Given the description of an element on the screen output the (x, y) to click on. 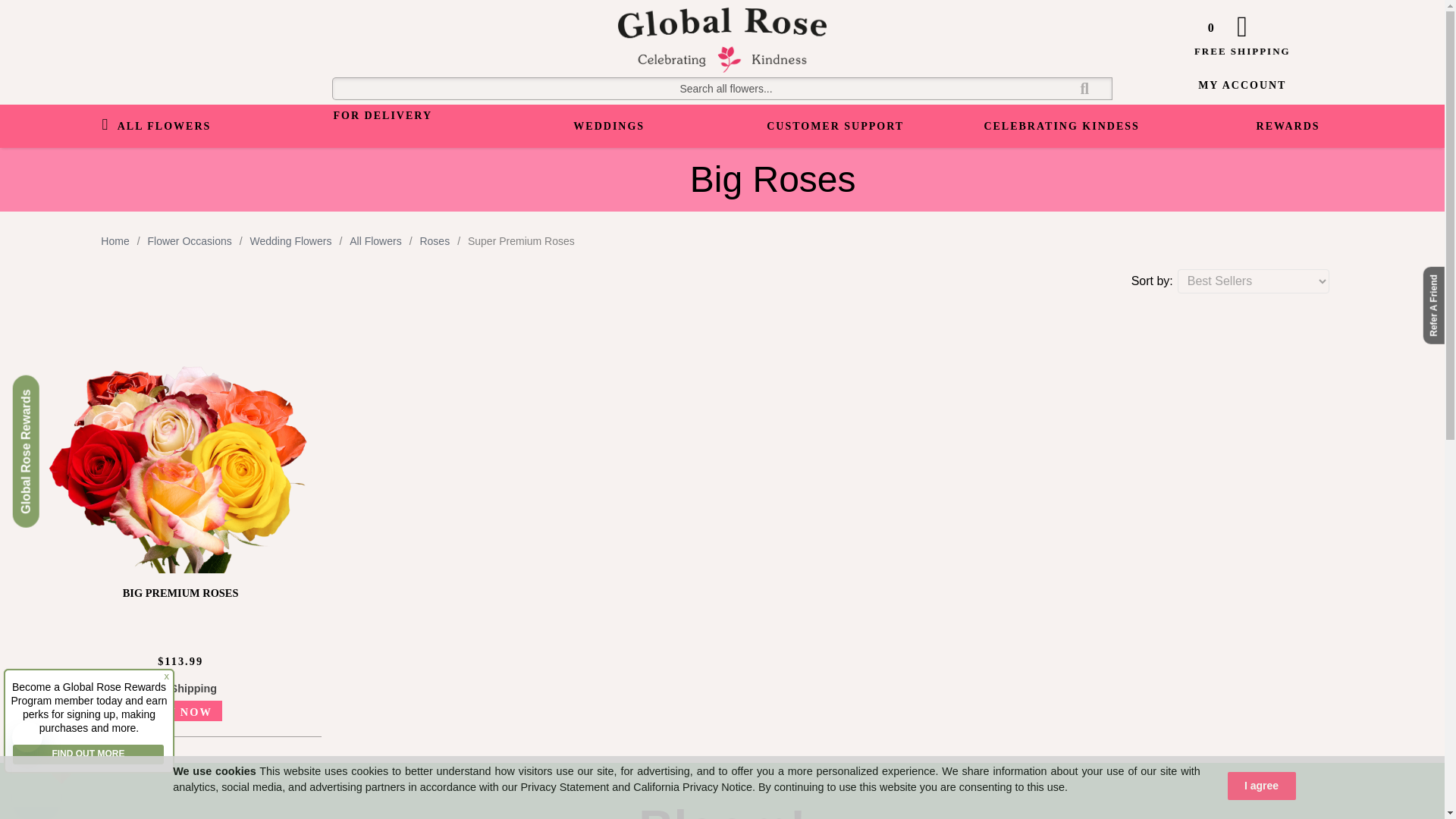
All Flowers (375, 241)
GlobalRose (722, 69)
Home (114, 241)
GlobalRose.com (722, 39)
Search all flowers... (721, 87)
I agree (1261, 786)
search-button (1084, 87)
Roses (434, 241)
Flower Occasions (189, 241)
Wedding Flowers (290, 241)
Cart (1242, 25)
Search all flowers... (721, 87)
search (721, 87)
